Given the description of an element on the screen output the (x, y) to click on. 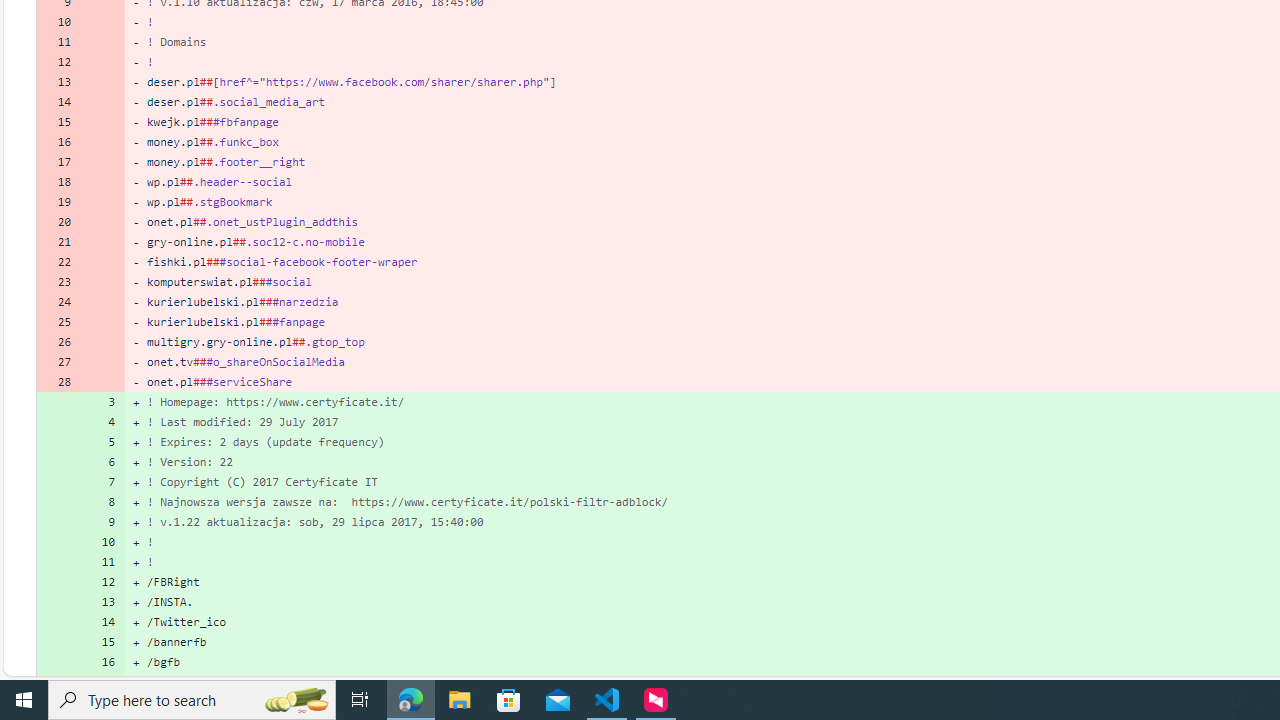
19 (58, 201)
21 (58, 241)
26 (58, 341)
Class: blob-num blob-num-deletion empty-cell (102, 381)
6 (102, 462)
9 (102, 521)
17 (102, 681)
24 (58, 301)
20 (58, 221)
23 (58, 282)
11 (102, 561)
12 (102, 581)
15 (102, 642)
